Given the description of an element on the screen output the (x, y) to click on. 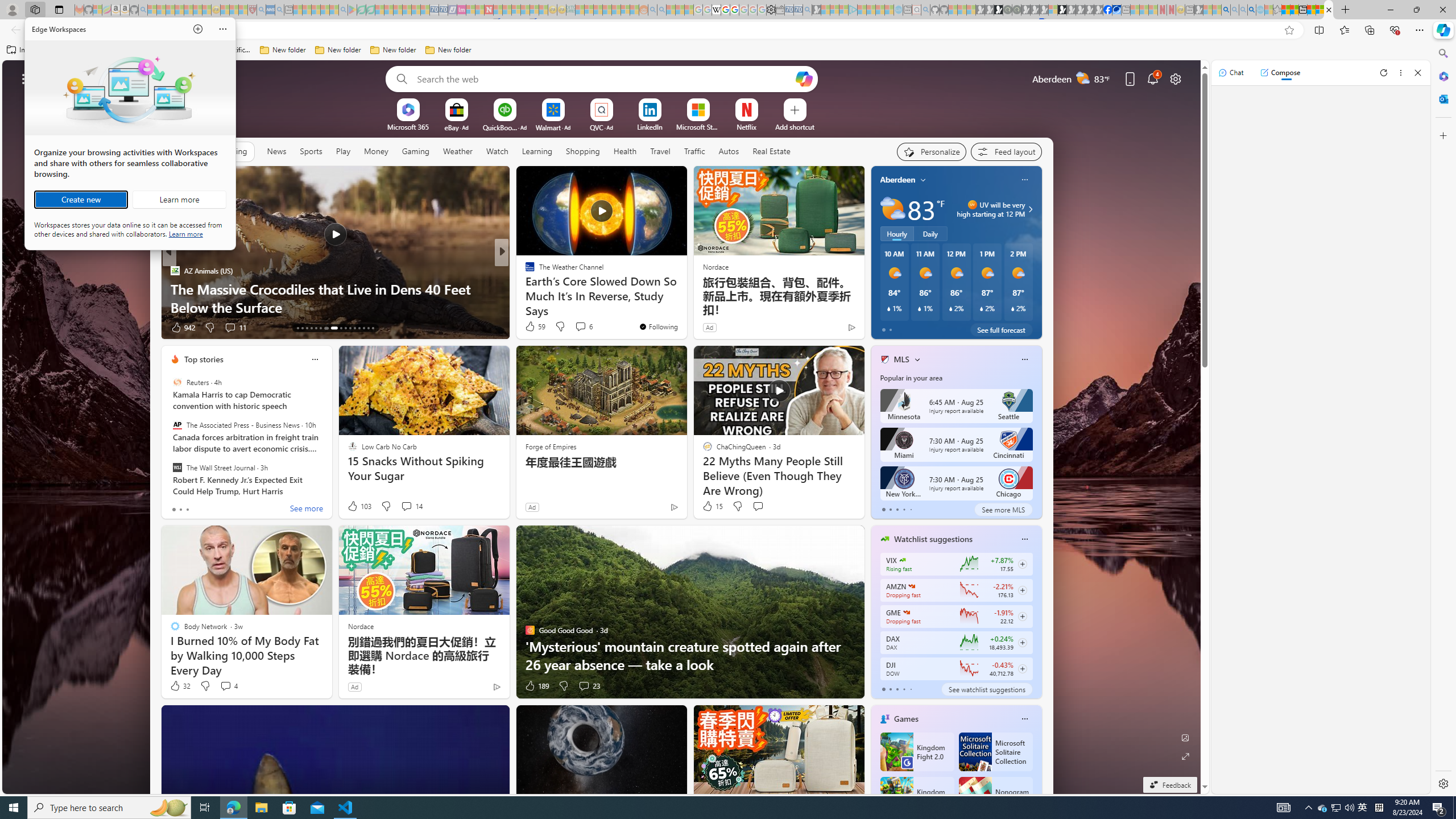
103 Like (358, 505)
Wallet - Sleeping (779, 9)
AutomationID: tab-19 (324, 328)
32 Like (179, 685)
Learn more about Workspaces (178, 199)
20 Animals with Astonishing and Unique Features (684, 307)
Traffic (1322, 807)
